Given the description of an element on the screen output the (x, y) to click on. 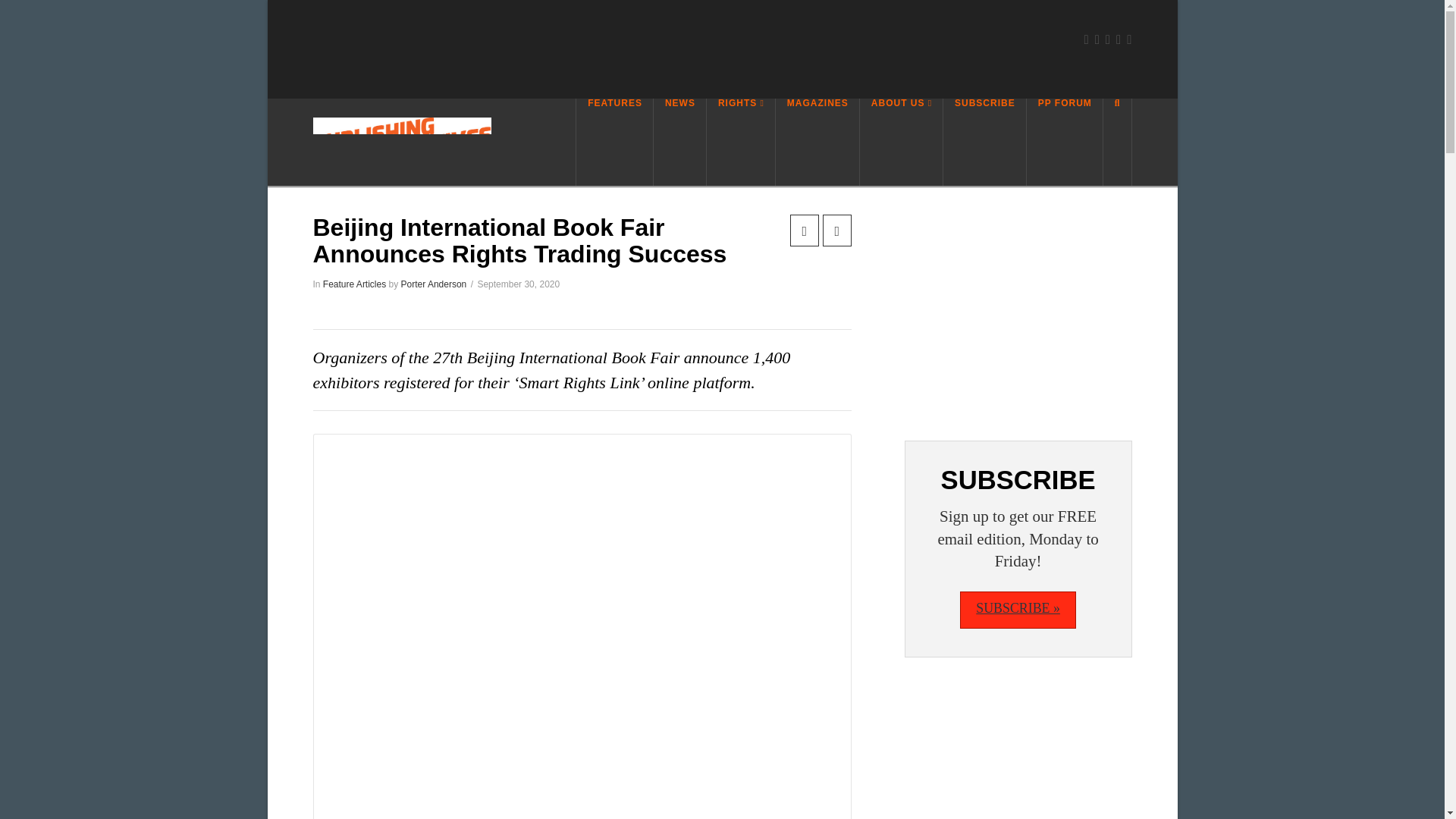
Feature Articles (354, 284)
SUBSCRIBE (984, 141)
ABOUT US (901, 141)
MAGAZINES (818, 141)
FEATURES (614, 141)
Porter Anderson (434, 284)
